Given the description of an element on the screen output the (x, y) to click on. 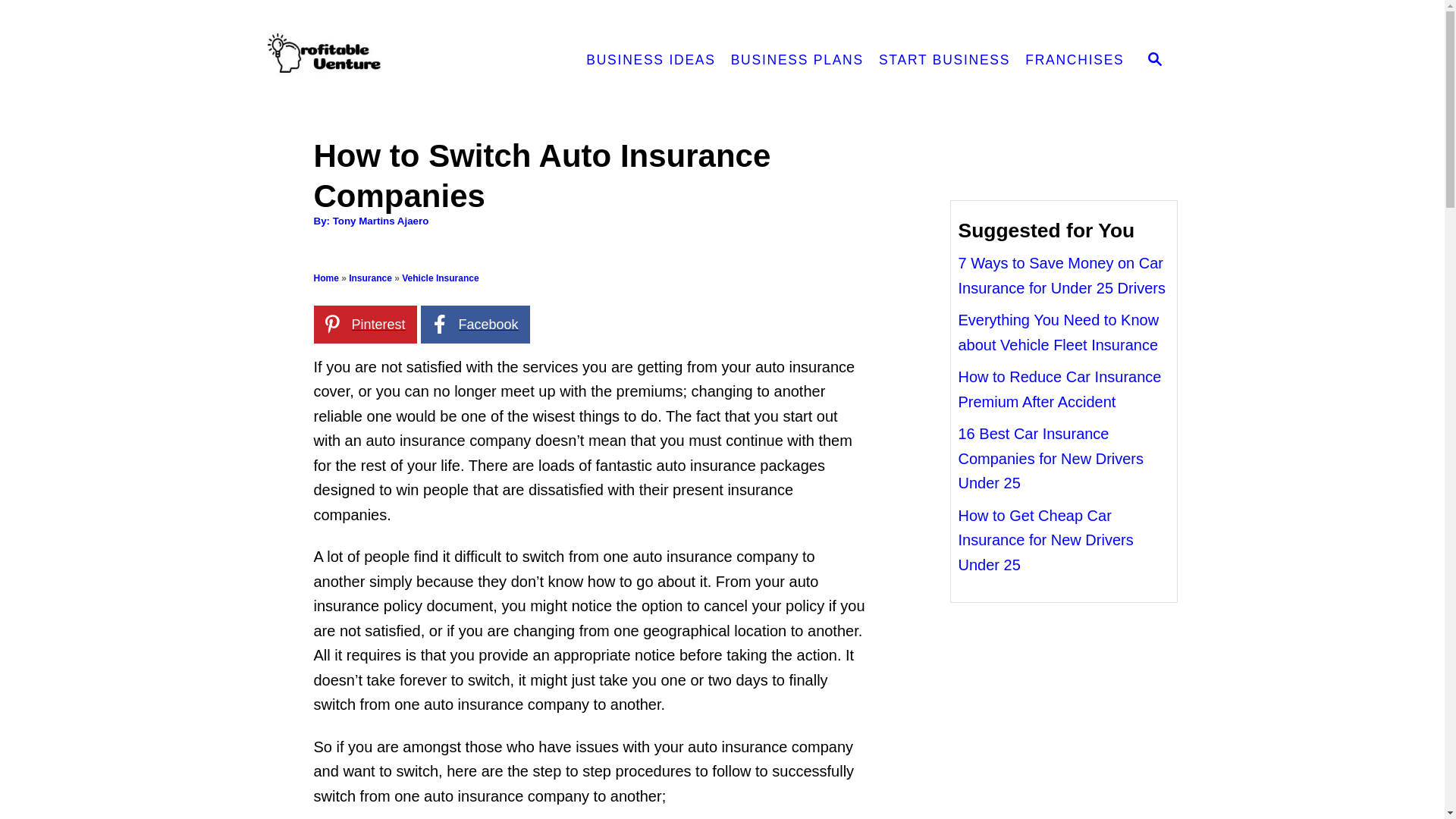
7 Ways to Save Money on Car Insurance for Under 25 Drivers (1062, 275)
Vehicle Insurance (440, 277)
16 Best Car Insurance Companies for New Drivers Under 25 (1051, 458)
FRANCHISES (1074, 60)
START BUSINESS (943, 60)
How to Get Cheap Car Insurance for New Drivers Under 25 (1046, 539)
Facebook (474, 324)
Insurance (370, 277)
BUSINESS IDEAS (650, 60)
How to Get Cheap Car Insurance for New Drivers Under 25 (1046, 539)
ProfitableVenture (400, 60)
How to Reduce Car Insurance Premium After Accident (1059, 389)
How to Reduce Car Insurance Premium After Accident (1059, 389)
Tony Martins Ajaero (381, 220)
Pinterest (365, 324)
